Given the description of an element on the screen output the (x, y) to click on. 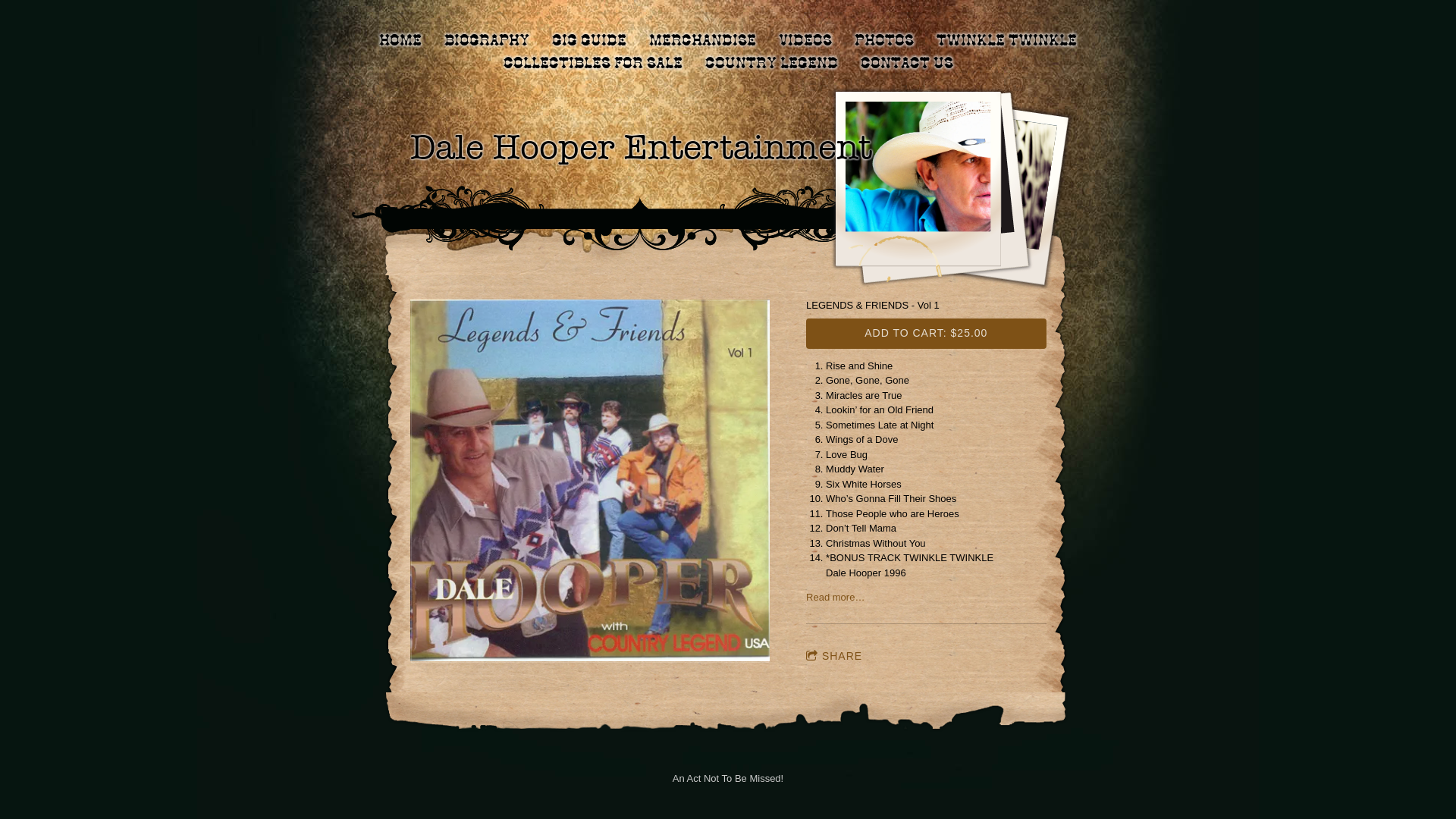
Home Element type: text (400, 40)
LEGENDS & FRIENDS - Vol 1 Element type: hover (589, 481)
Photos Element type: text (883, 40)
Contact Us Element type: text (905, 63)
COUNTRY LEGEND Element type: text (771, 63)
VIDEOS Element type: text (804, 40)
ADD TO CART: $25.00 Element type: text (925, 333)
MERCHANDISE Element type: text (702, 40)
Biography Element type: text (486, 40)
TWINKLE TWINKLE Element type: text (1006, 40)
GIG GUIDE Element type: text (589, 40)
SHARE Element type: text (834, 656)
Dale Hooper Entertainment Element type: text (640, 151)
COLLECTIBLES FOR SALE Element type: text (592, 63)
